Given the description of an element on the screen output the (x, y) to click on. 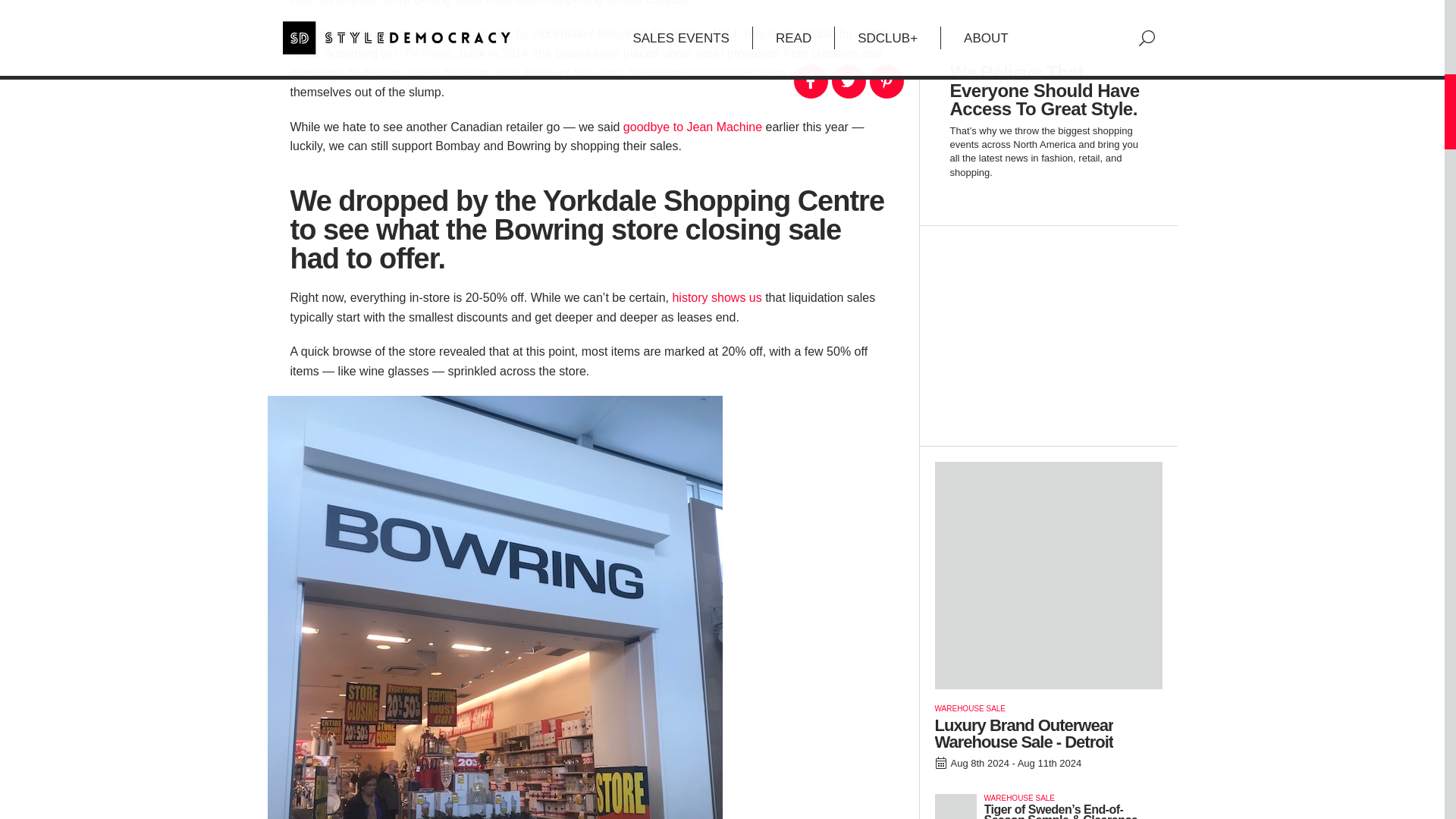
CTV News (422, 52)
goodbye to Jean Machine (692, 126)
history shows us (716, 297)
